Given the description of an element on the screen output the (x, y) to click on. 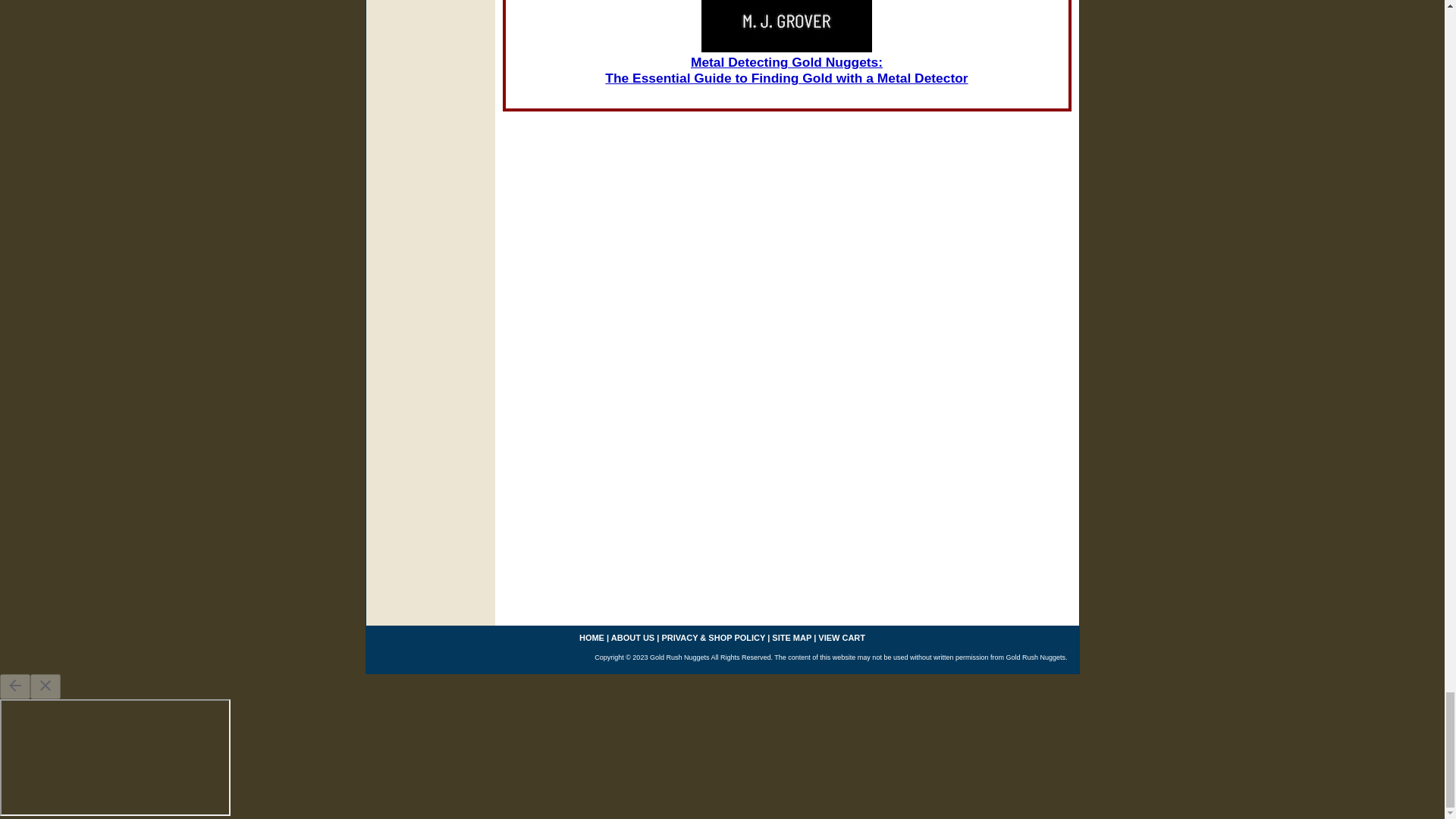
HOME (591, 637)
ABOUT US (632, 637)
